Given the description of an element on the screen output the (x, y) to click on. 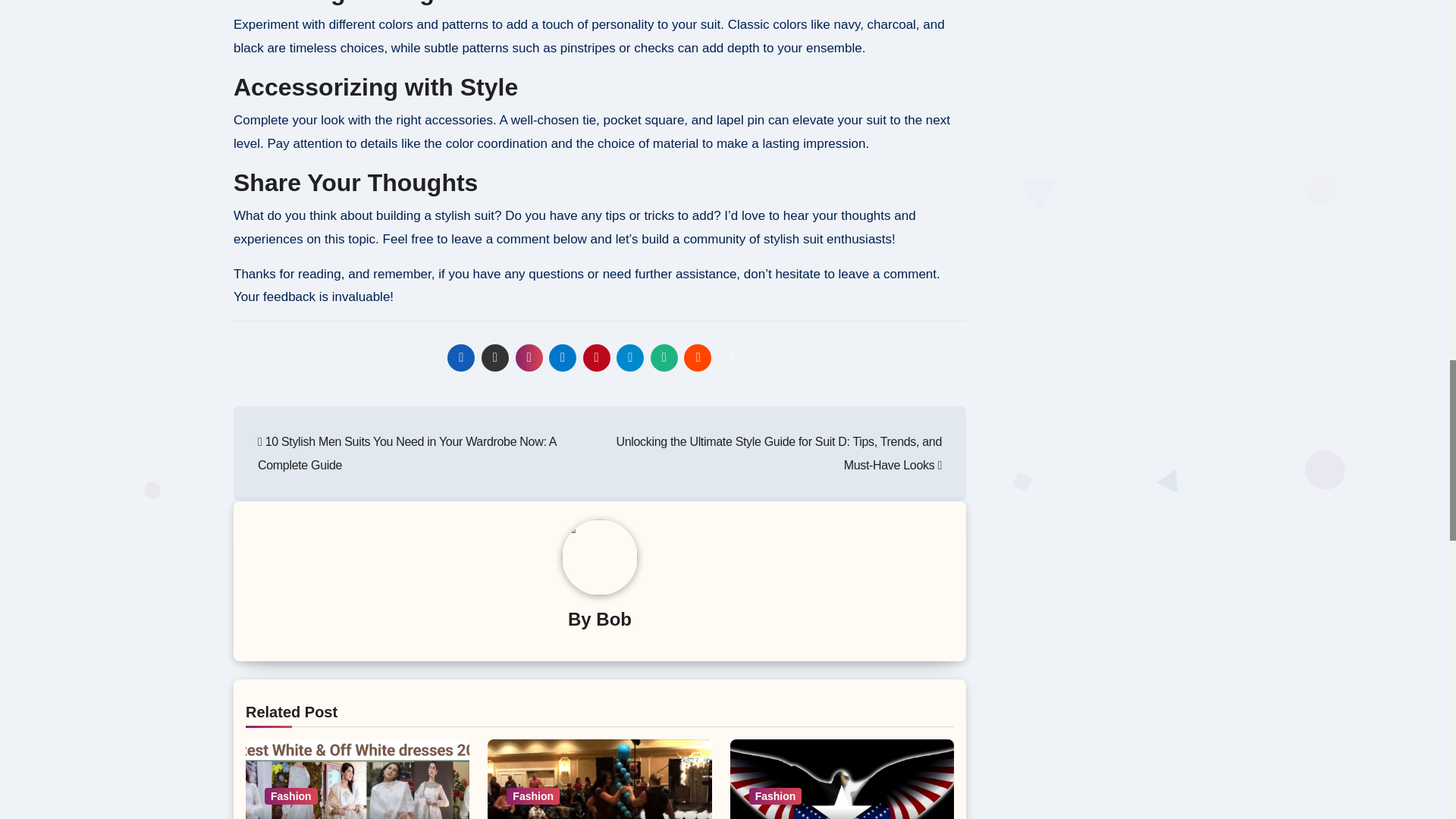
Bob (613, 619)
Fashion (290, 795)
Fashion (532, 795)
